Given the description of an element on the screen output the (x, y) to click on. 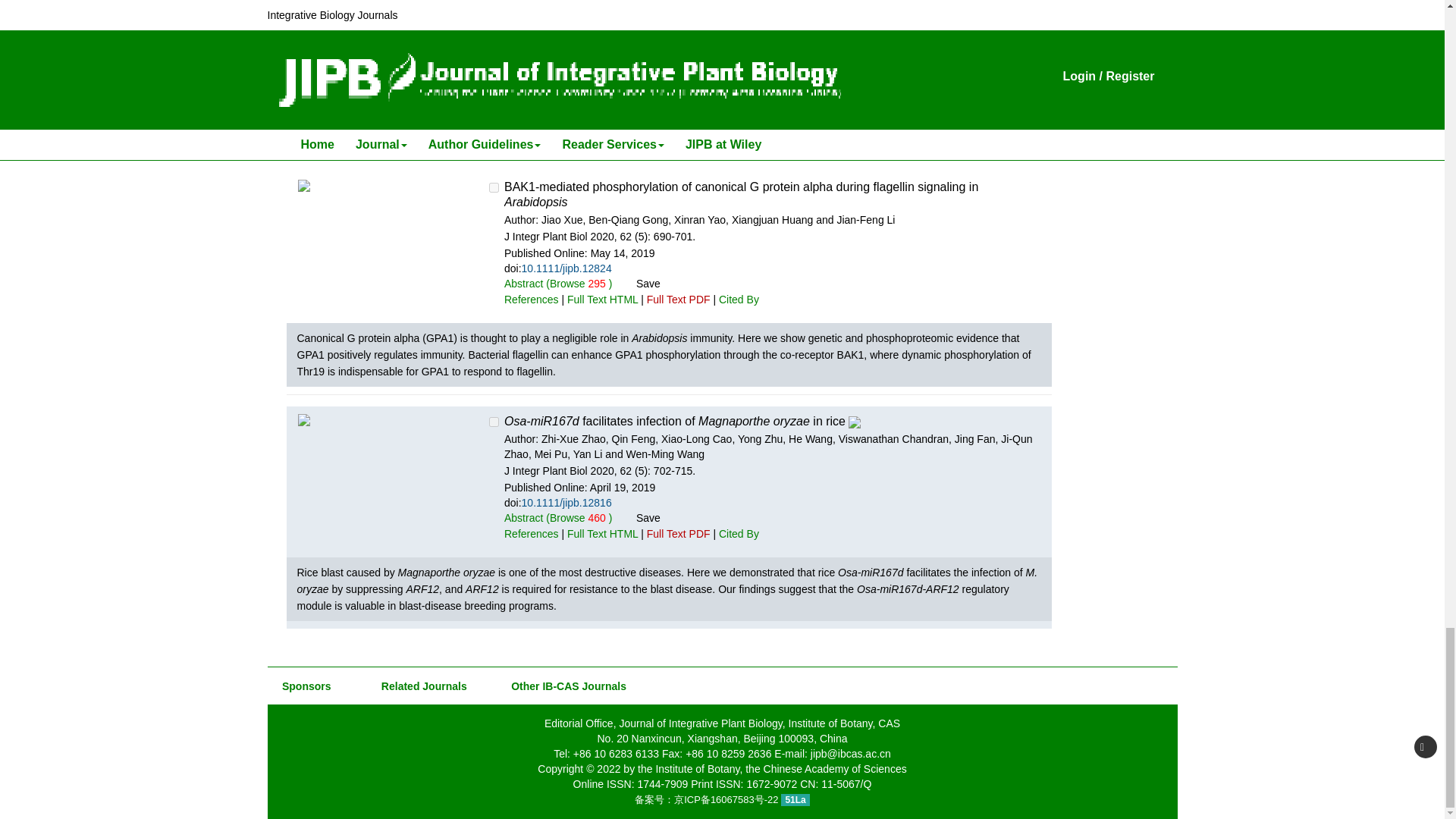
59927 (494, 187)
59861 (494, 421)
